Given the description of an element on the screen output the (x, y) to click on. 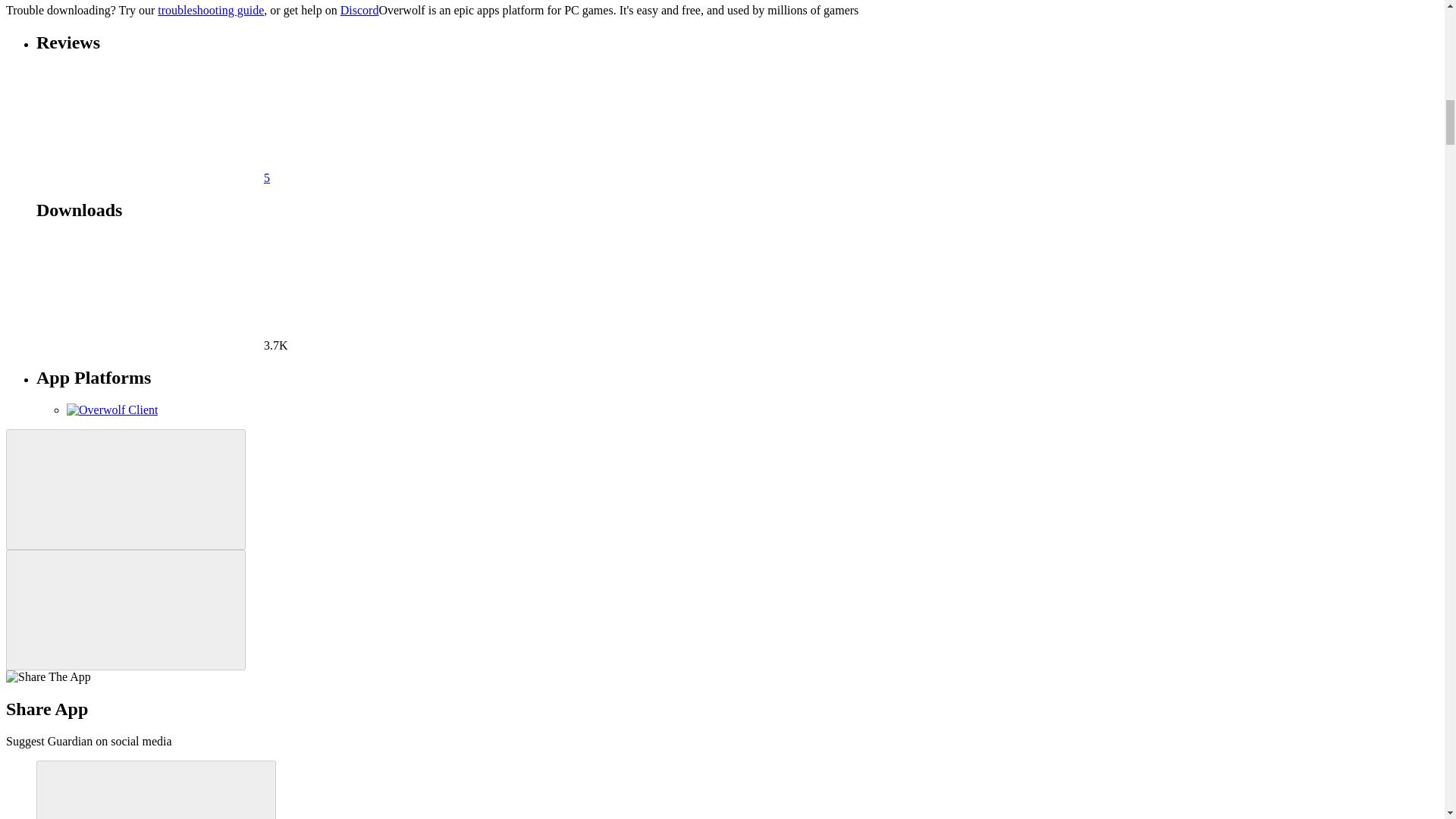
Discord (359, 10)
troubleshooting guide (210, 10)
